Given the description of an element on the screen output the (x, y) to click on. 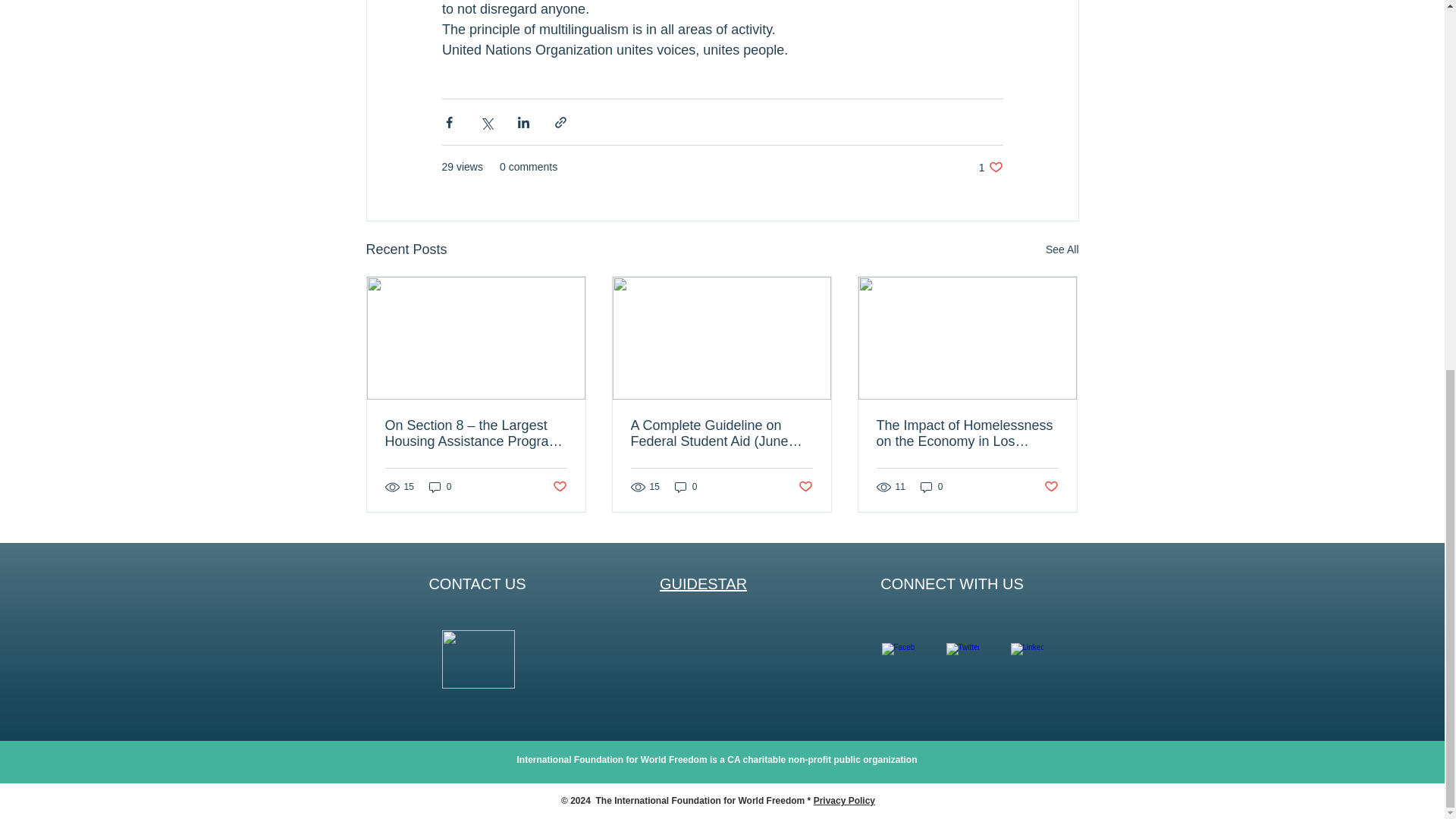
Post not marked as liked (804, 487)
0 (931, 486)
Post not marked as liked (1050, 487)
Post not marked as liked (558, 487)
See All (1061, 250)
GUIDESTAR (702, 583)
0 (685, 486)
0 (990, 166)
